Given the description of an element on the screen output the (x, y) to click on. 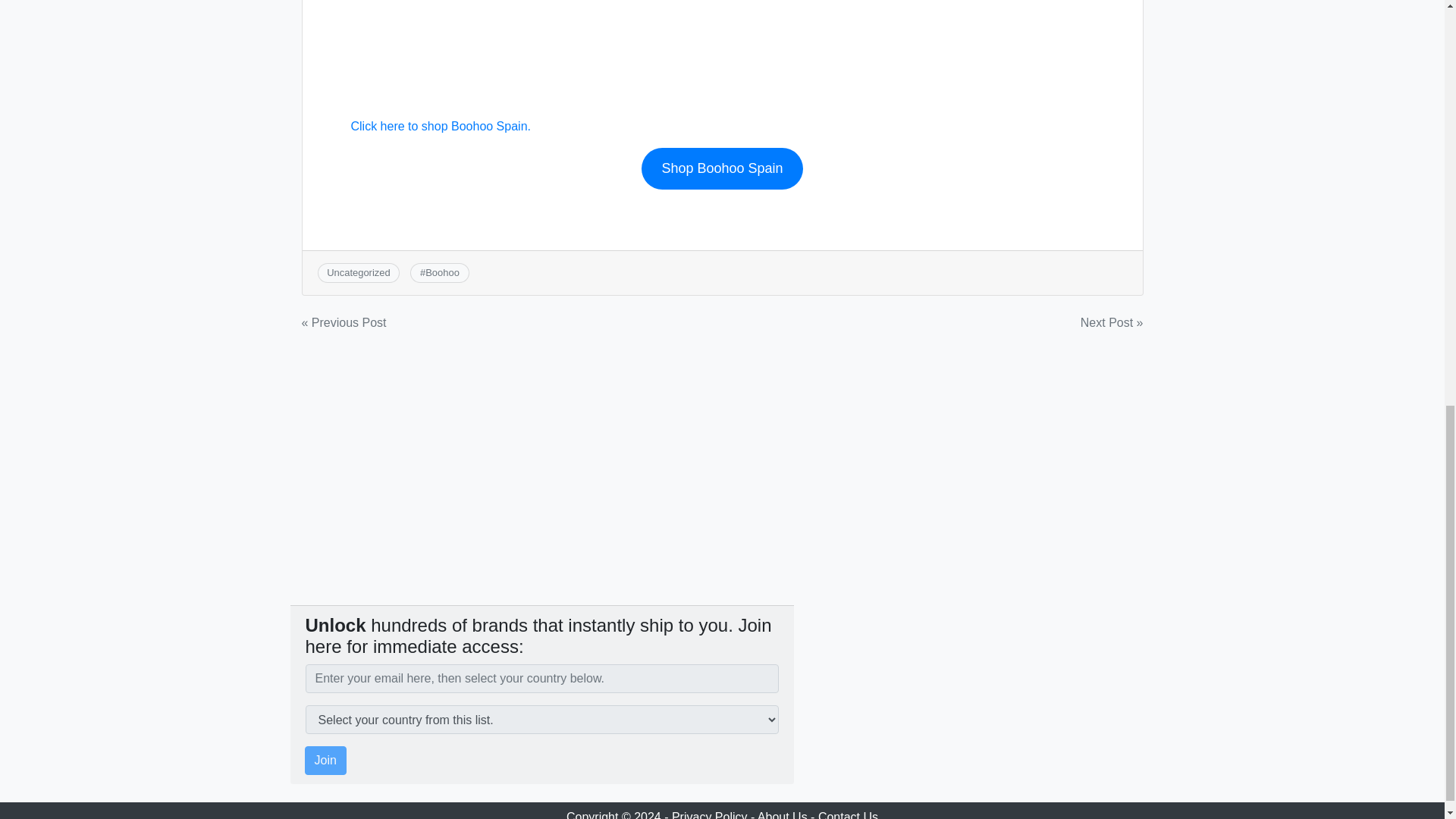
Boohoo (442, 272)
Shop Boohoo Spain (722, 168)
Click here to shop Boohoo Spain. (439, 125)
Contact Us (847, 814)
About Us (782, 814)
Join (325, 760)
Uncategorized (358, 272)
Privacy Policy (709, 814)
